Given the description of an element on the screen output the (x, y) to click on. 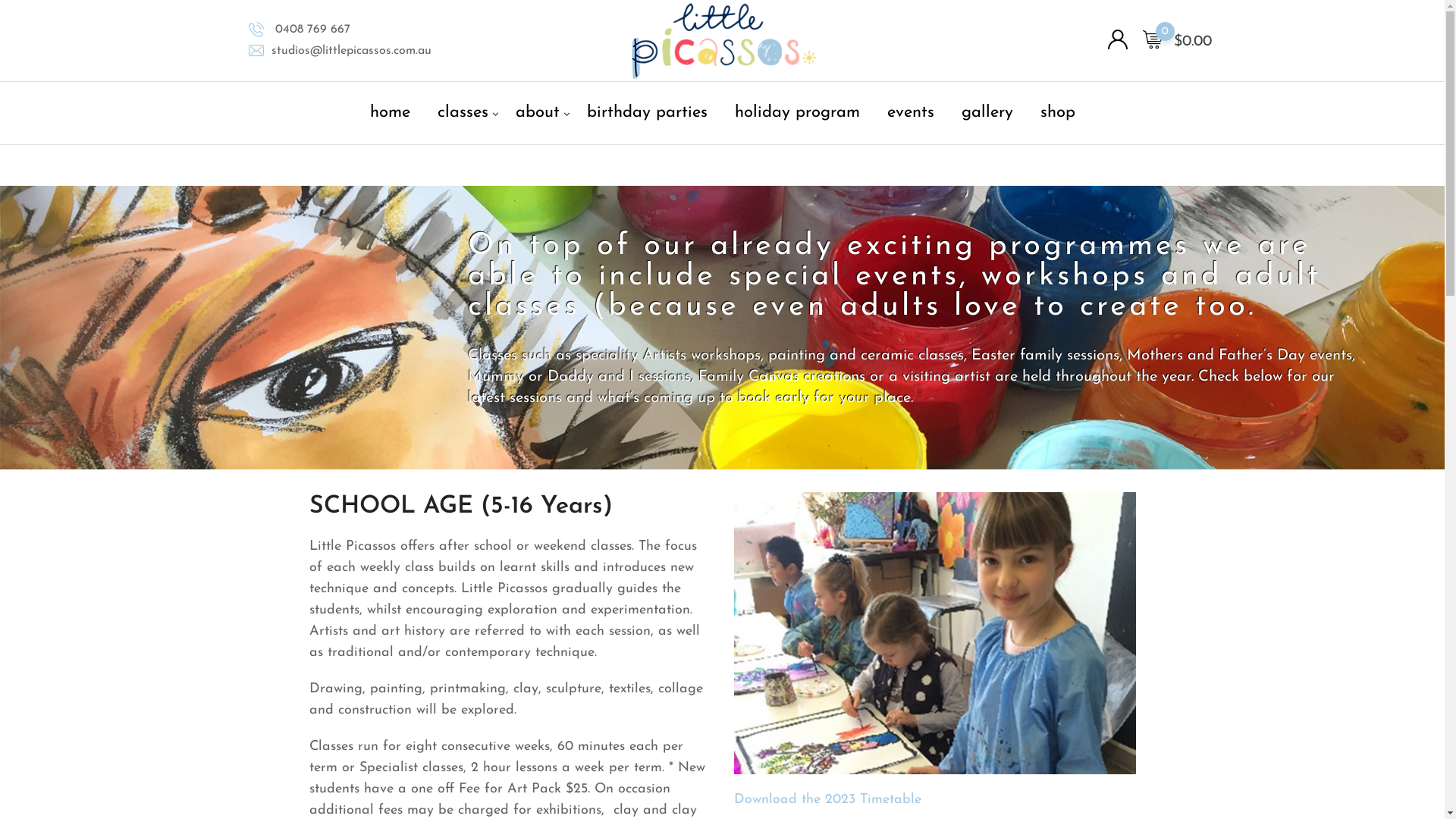
holiday program Element type: text (797, 112)
classes Element type: text (462, 112)
0408 769 667 Element type: text (310, 29)
events Element type: text (909, 112)
home Element type: text (388, 112)
Download the 2023 Timetable Element type: text (827, 799)
0 Element type: text (1151, 40)
studios@littlepicassos.com.au Element type: text (351, 50)
shop Element type: text (1056, 112)
birthday parties Element type: text (646, 112)
gallery Element type: text (986, 112)
about Element type: text (536, 112)
My Account Element type: hover (1116, 40)
